Given the description of an element on the screen output the (x, y) to click on. 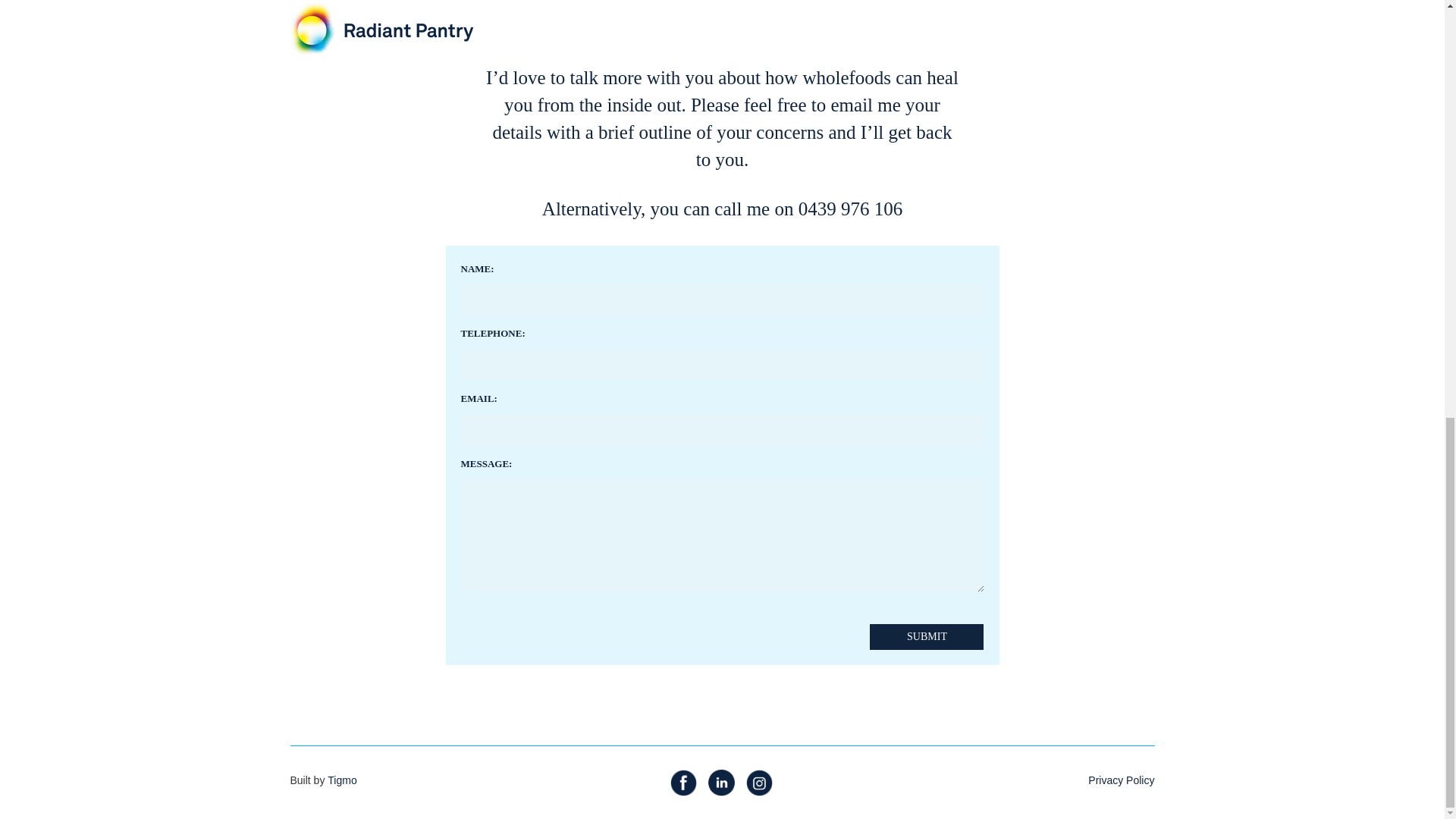
Submit (926, 637)
Submit (926, 637)
Tigmo (341, 780)
